Given the description of an element on the screen output the (x, y) to click on. 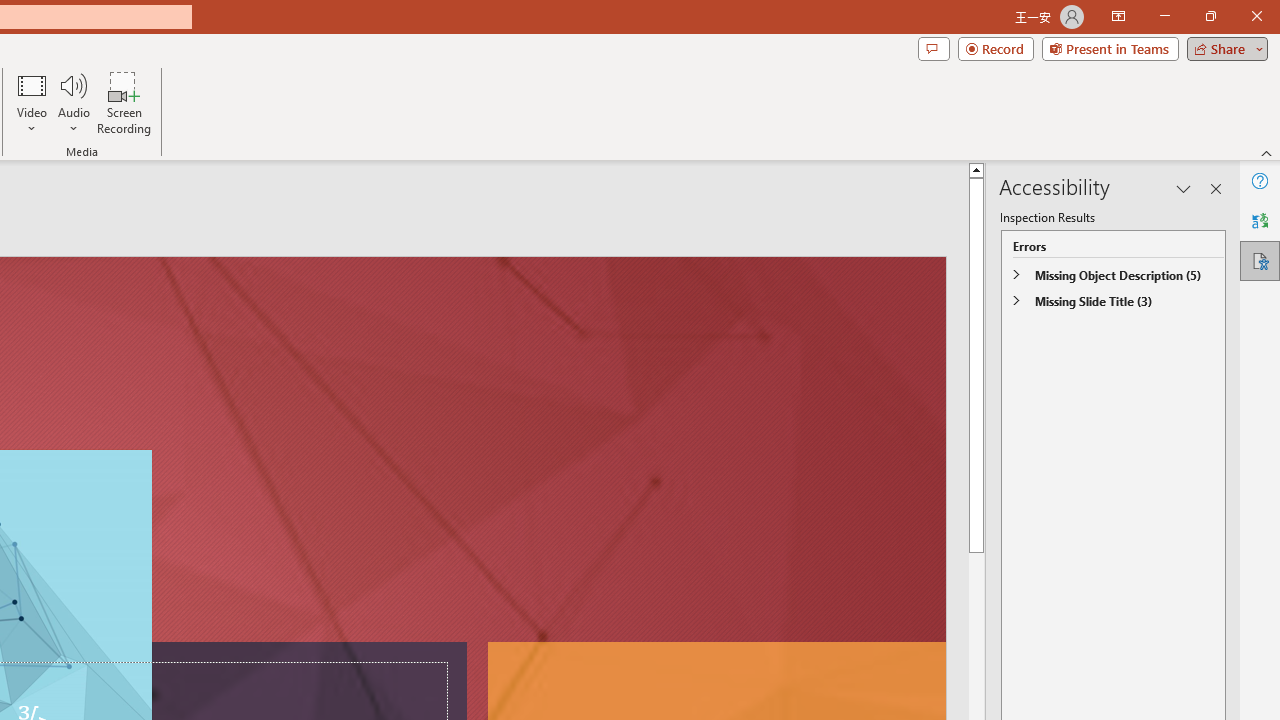
Comments (933, 48)
Share (1223, 48)
Video (31, 102)
Present in Teams (1109, 48)
